Given the description of an element on the screen output the (x, y) to click on. 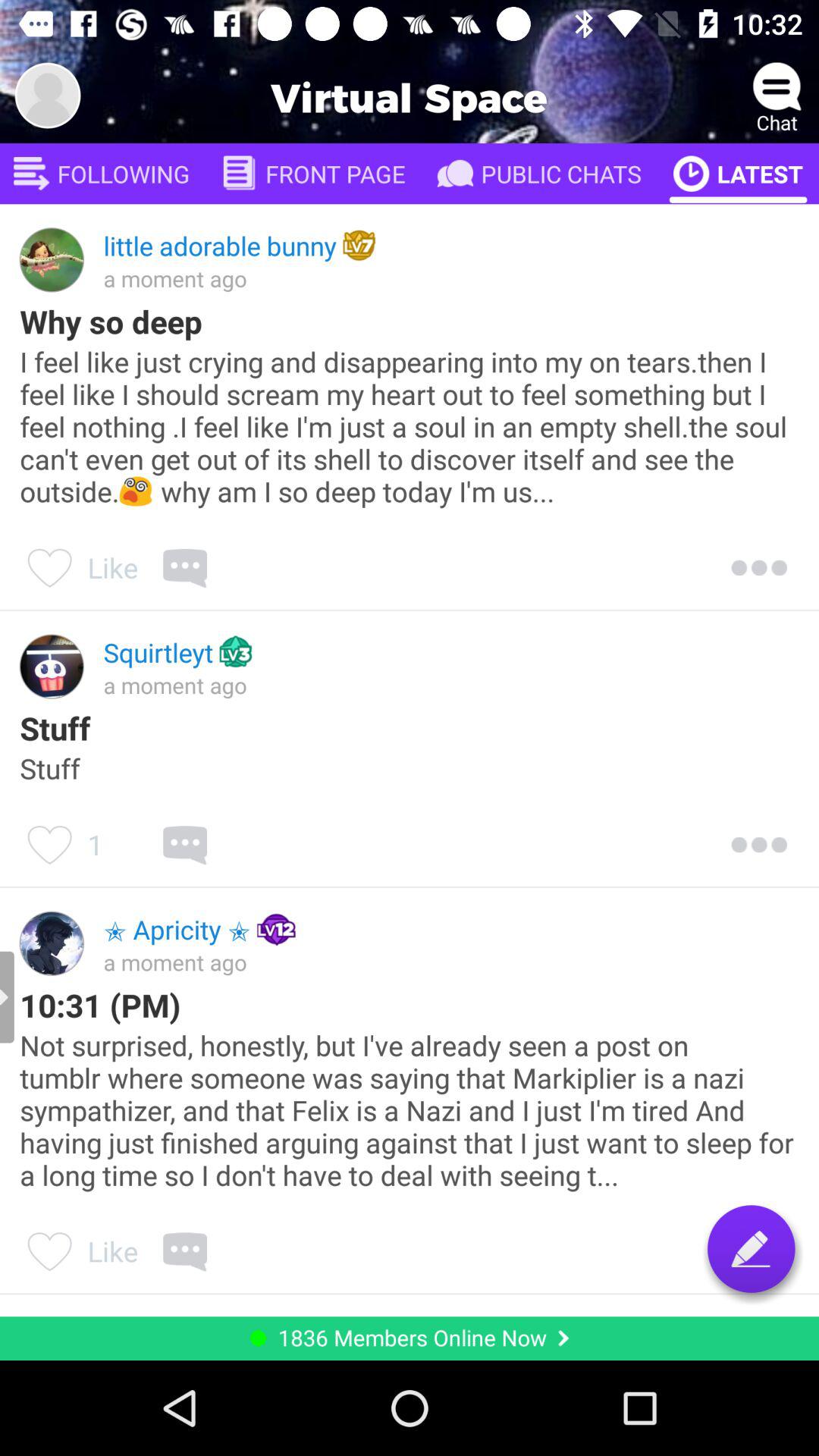
message enter (751, 1248)
